Given the description of an element on the screen output the (x, y) to click on. 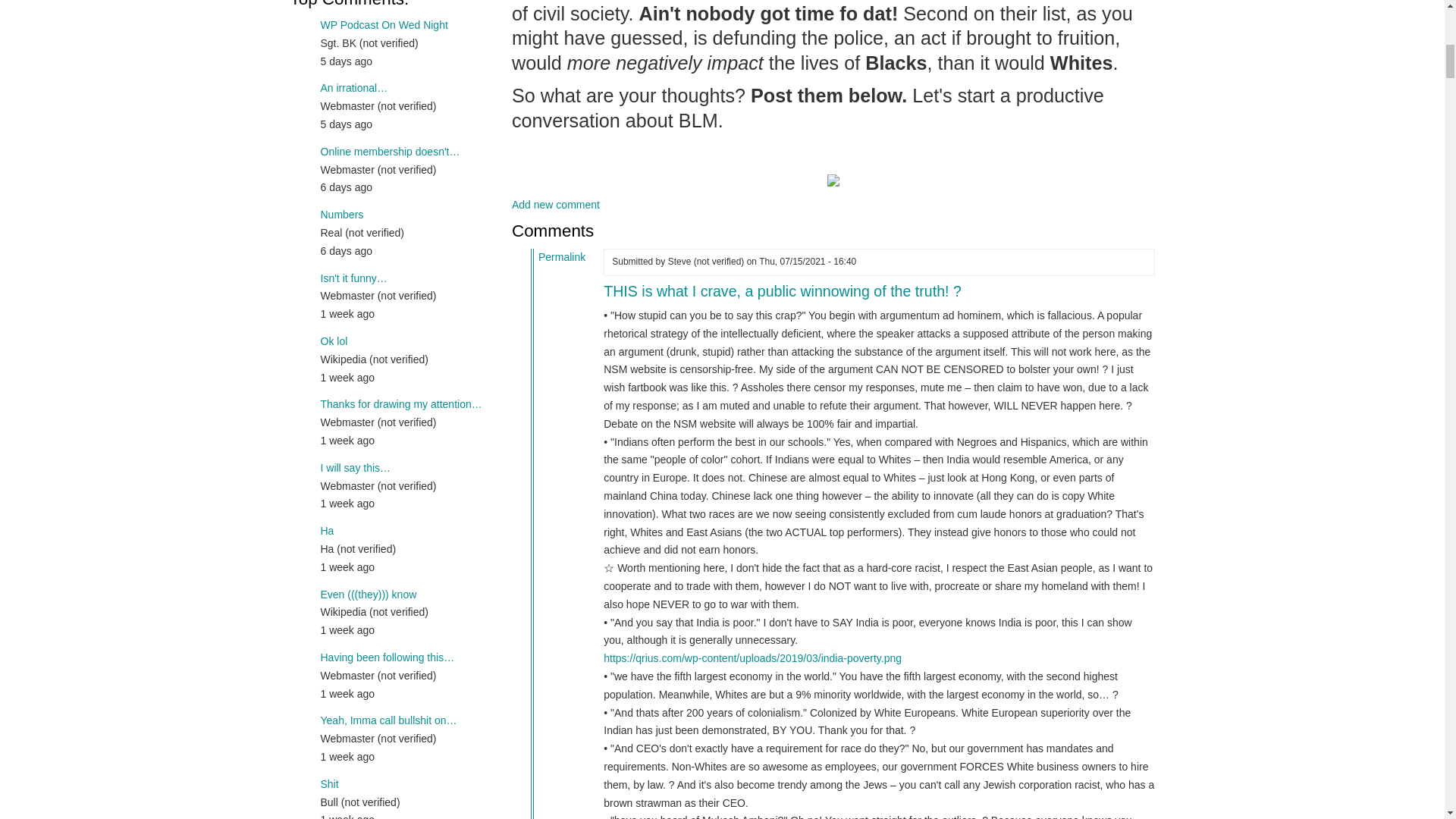
Ha (326, 530)
WP Podcast On Wed Night (383, 24)
Ok lol (333, 340)
Shit (328, 784)
Numbers (341, 214)
